Given the description of an element on the screen output the (x, y) to click on. 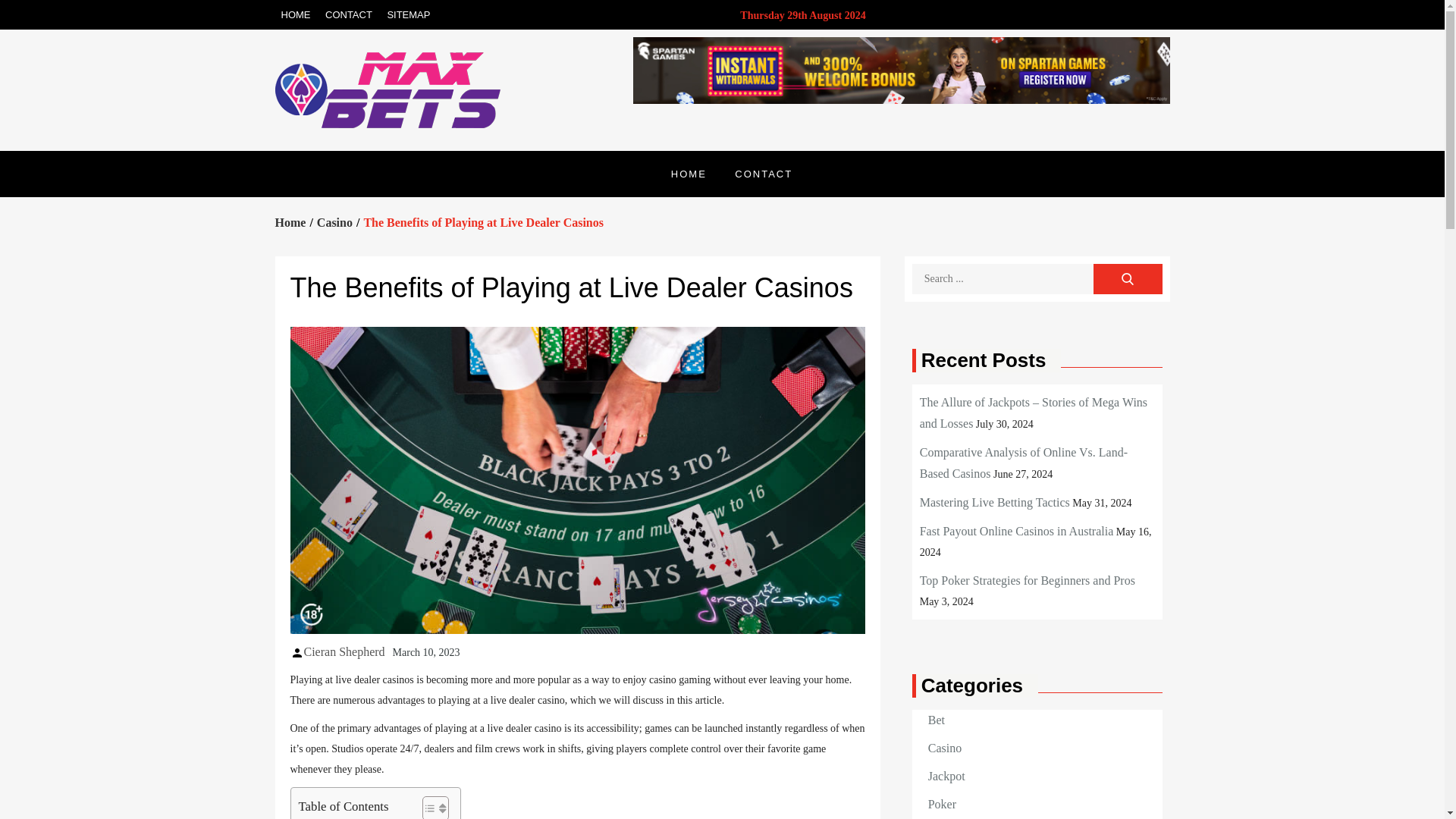
Casino (334, 222)
HOME (295, 14)
Top Poker Strategies for Beginners and Pros (1027, 580)
Fast Payout Online Casinos in Australia (1016, 530)
HOME (688, 173)
Home (290, 222)
CONTACT (763, 173)
Comparative Analysis of Online Vs. Land-Based Casinos (1023, 462)
CONTACT (348, 14)
Jackpot (946, 775)
